Given the description of an element on the screen output the (x, y) to click on. 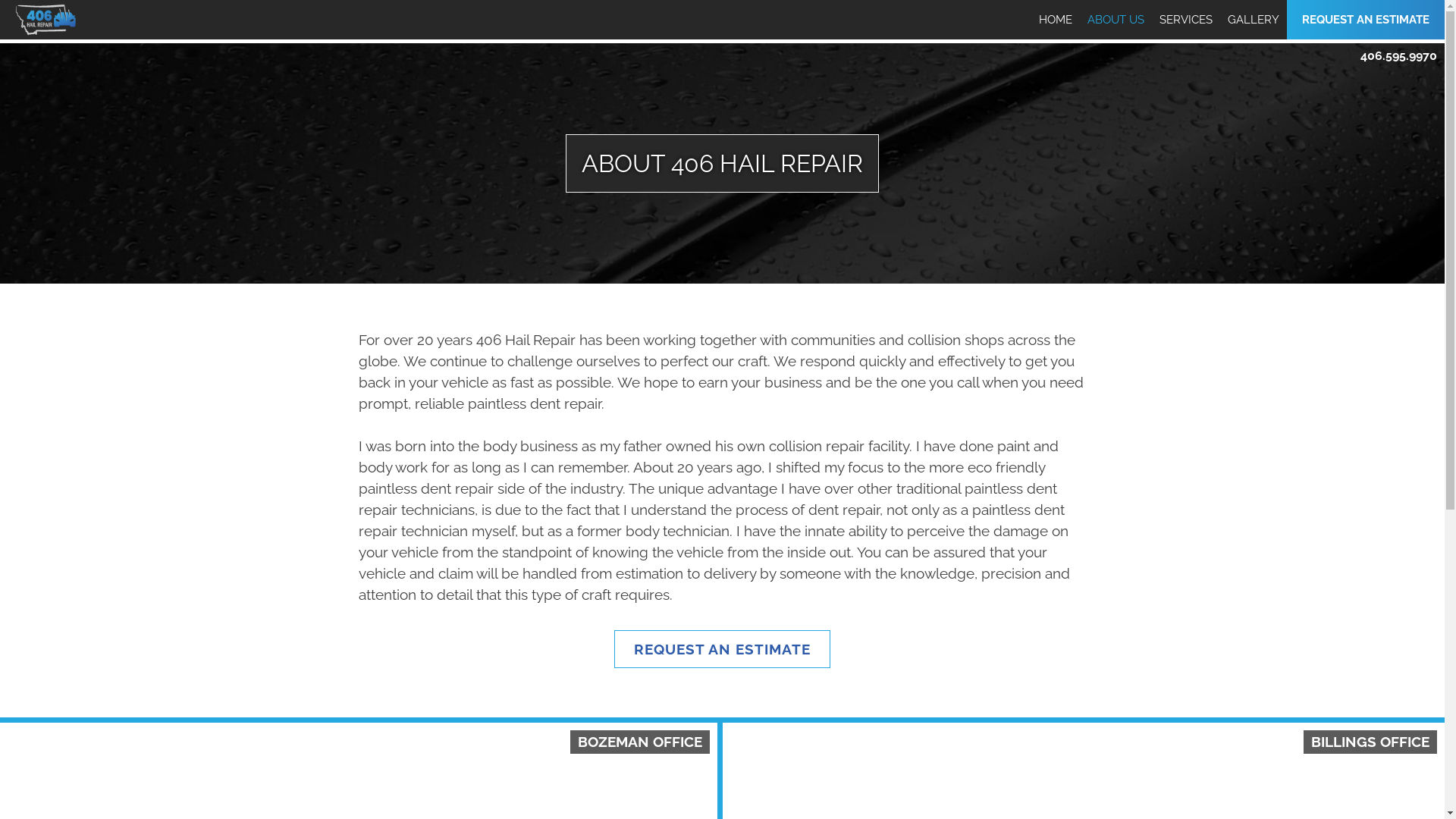
REQUEST AN ESTIMATE Element type: text (722, 649)
406.595.9970 Element type: text (1398, 55)
ABOUT US Element type: text (1115, 19)
HOME Element type: text (1055, 19)
406 Hail Repair Element type: text (64, 45)
REQUEST AN ESTIMATE Element type: text (1365, 19)
SERVICES Element type: text (1185, 19)
GALLERY Element type: text (1253, 19)
